Given the description of an element on the screen output the (x, y) to click on. 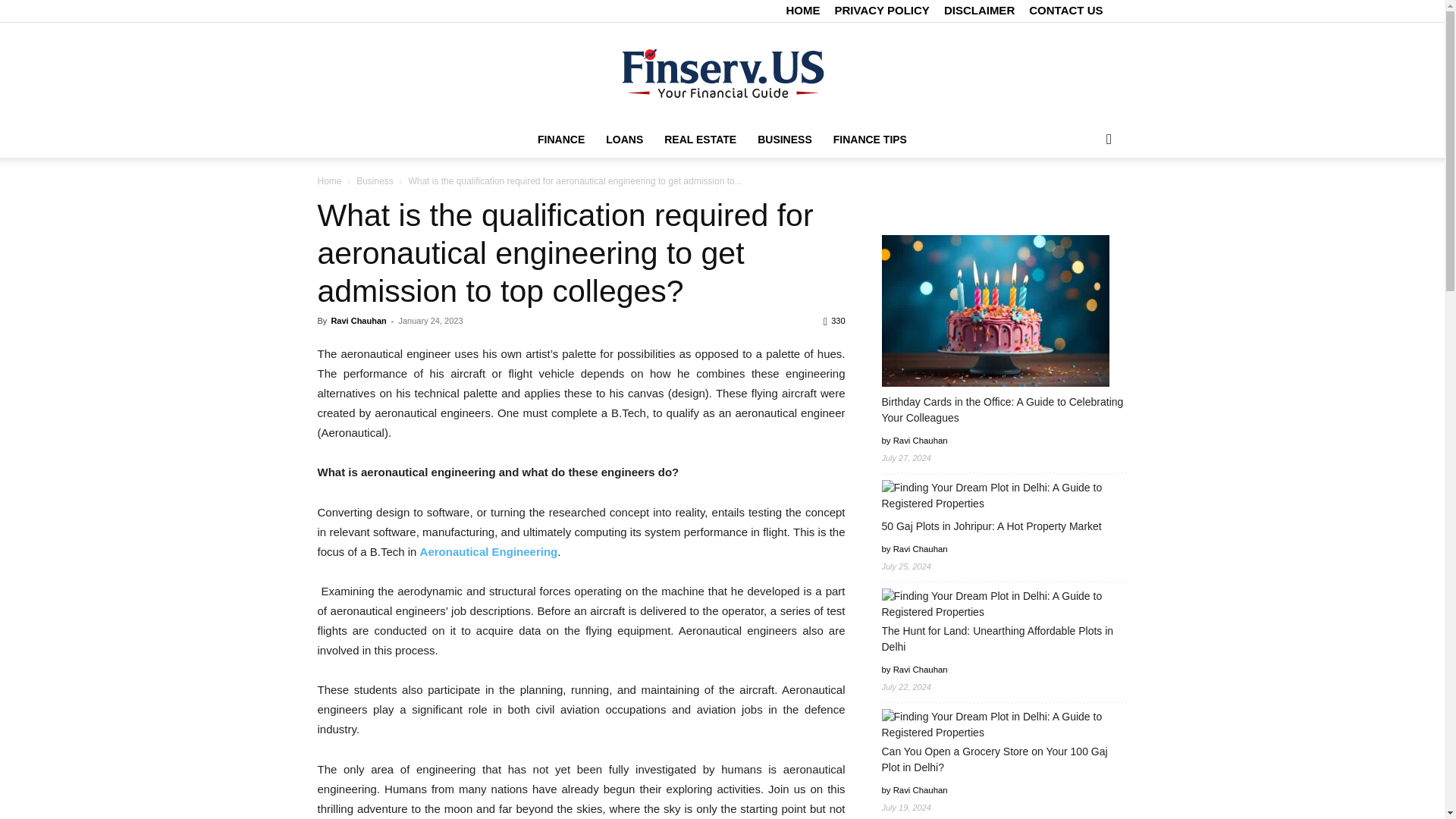
Home (328, 181)
Business (374, 181)
Ravi Chauhan (357, 320)
PRIVACY POLICY (881, 10)
FINANCE (561, 139)
View all posts in Business (374, 181)
FINANCE TIPS (869, 139)
DISCLAIMER (978, 10)
Aeronautical Engineering (488, 551)
Finserv USA (721, 72)
CONTACT US (1065, 10)
50 Gaj Plots in Johripur: A Hot Property Market (1003, 495)
BUSINESS (784, 139)
The Hunt for Land: Unearthing Affordable Plots in Delhi (1003, 603)
Search (1085, 200)
